Given the description of an element on the screen output the (x, y) to click on. 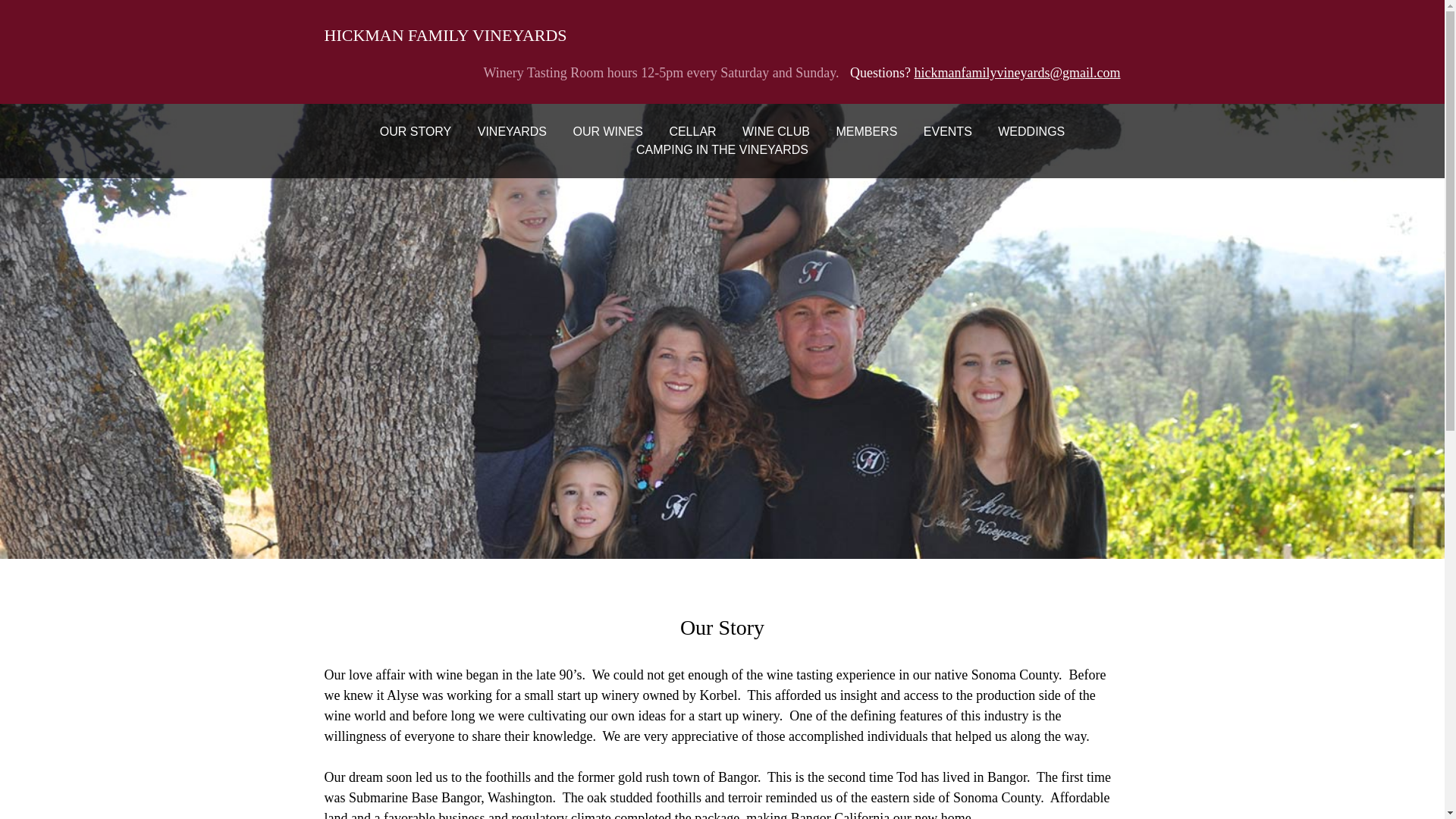
OUR WINES (607, 131)
WINE CLUB (775, 131)
HICKMAN FAMILY VINEYARDS (445, 34)
OUR STORY (415, 131)
MEMBERS (865, 131)
EVENTS (947, 131)
CELLAR (692, 131)
VINEYARDS (512, 131)
CAMPING IN THE VINEYARDS (722, 149)
WEDDINGS (1030, 131)
